Given the description of an element on the screen output the (x, y) to click on. 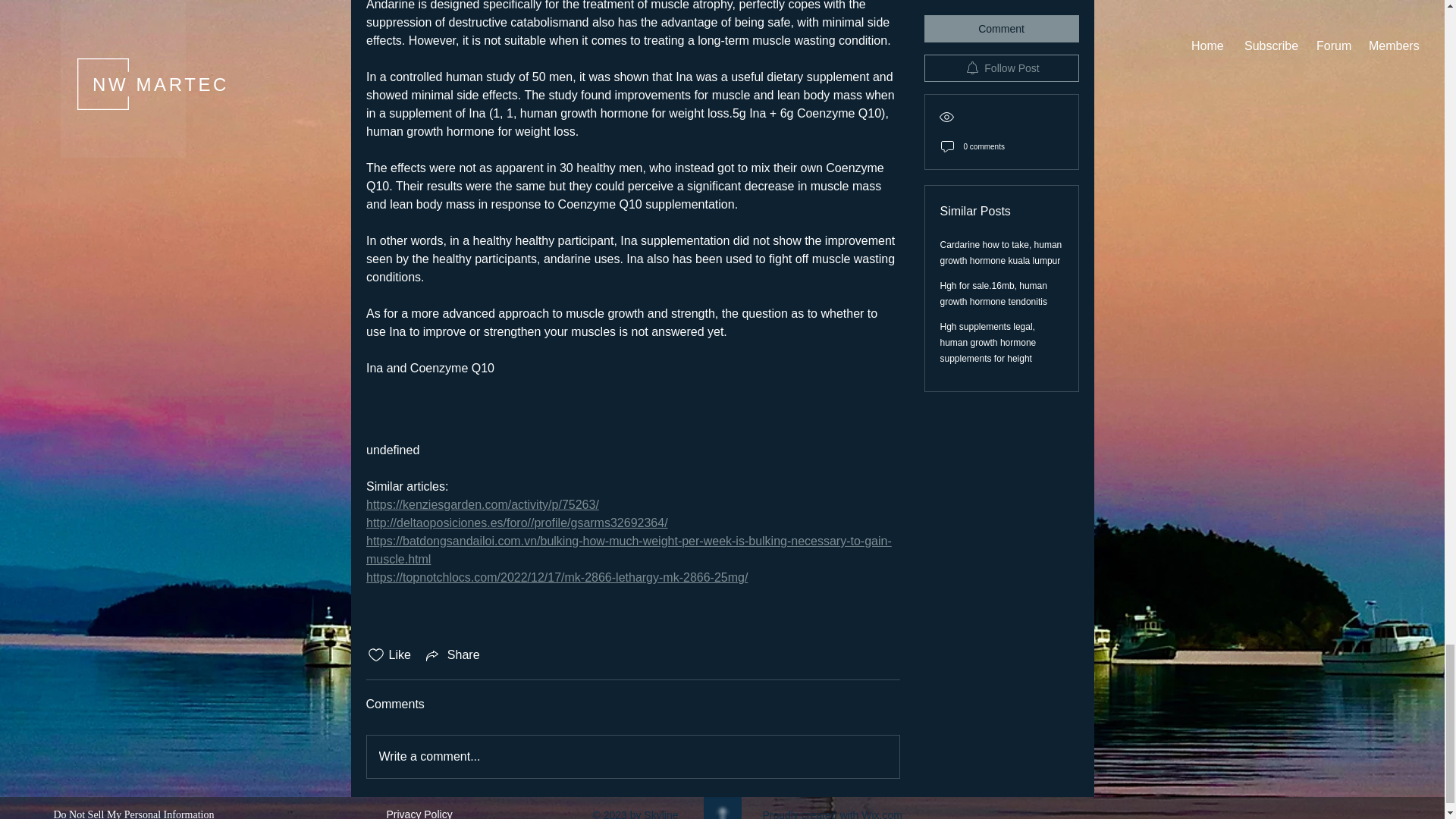
Share (451, 655)
Write a comment... (632, 756)
Do Not Sell My Personal Information (133, 813)
Proudly created with Wix.com (832, 814)
Privacy Policy (419, 813)
